Given the description of an element on the screen output the (x, y) to click on. 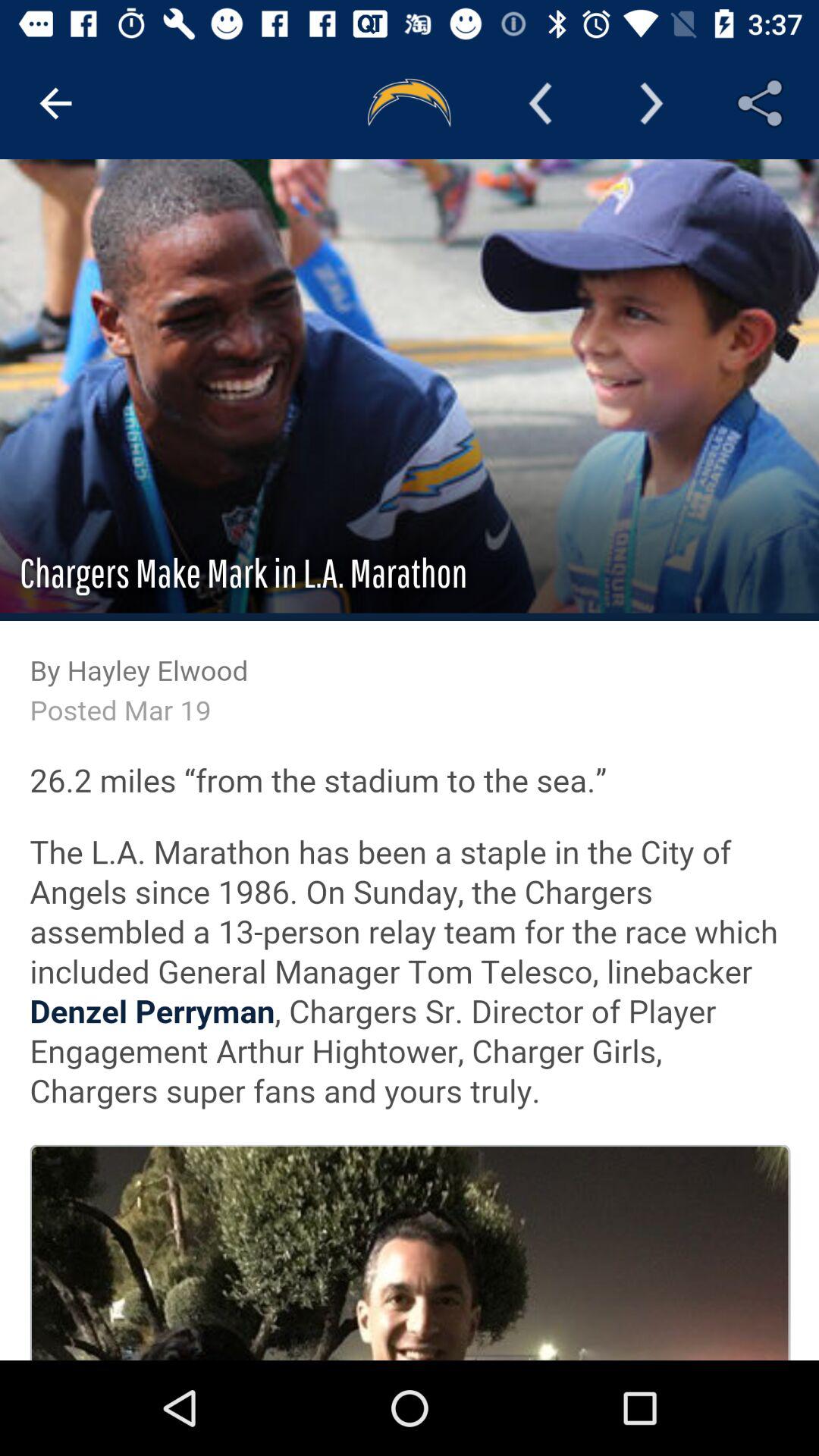
description (409, 759)
